Given the description of an element on the screen output the (x, y) to click on. 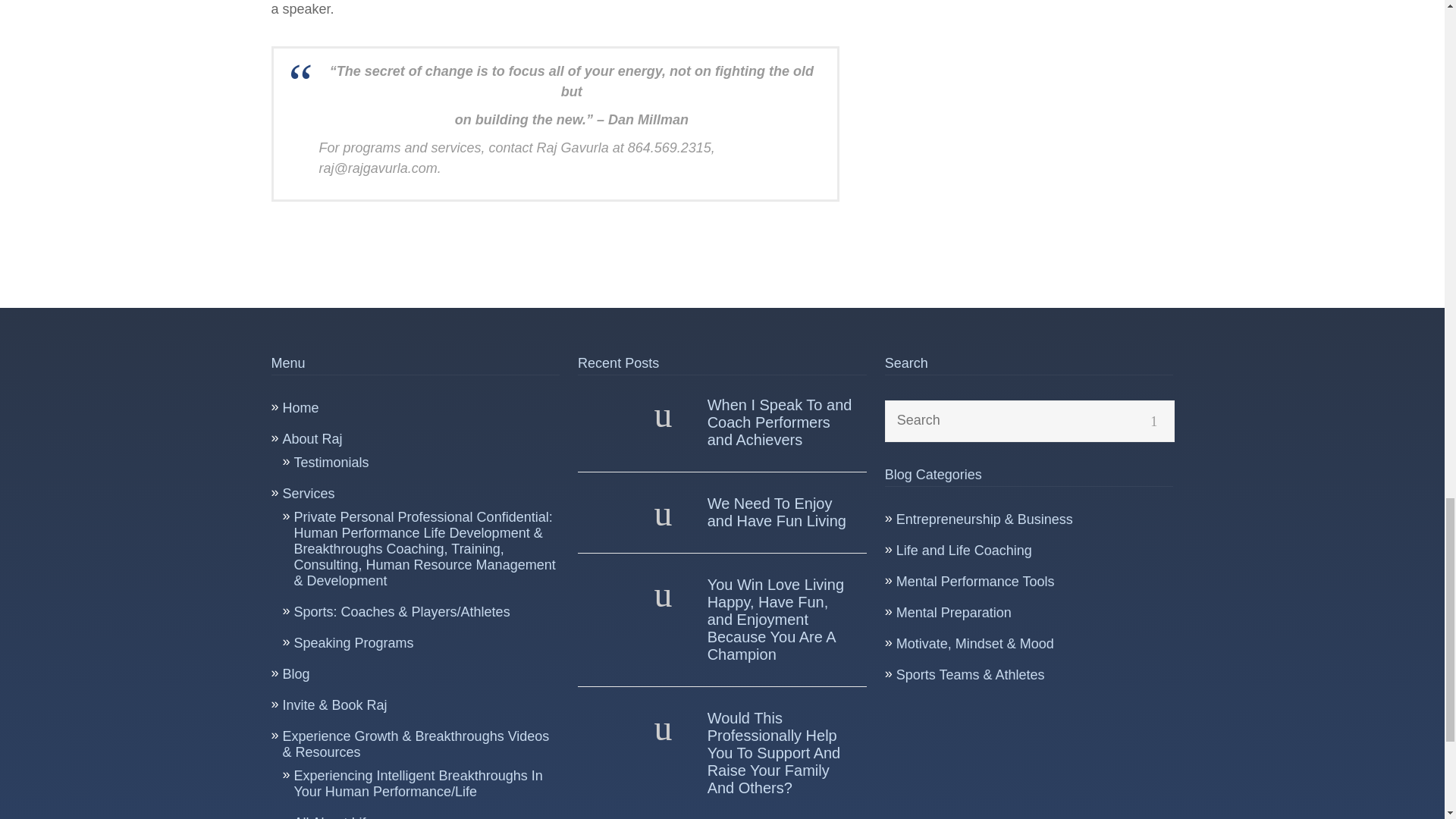
About Raj (312, 438)
Home (300, 407)
Testimonials (331, 462)
